Given the description of an element on the screen output the (x, y) to click on. 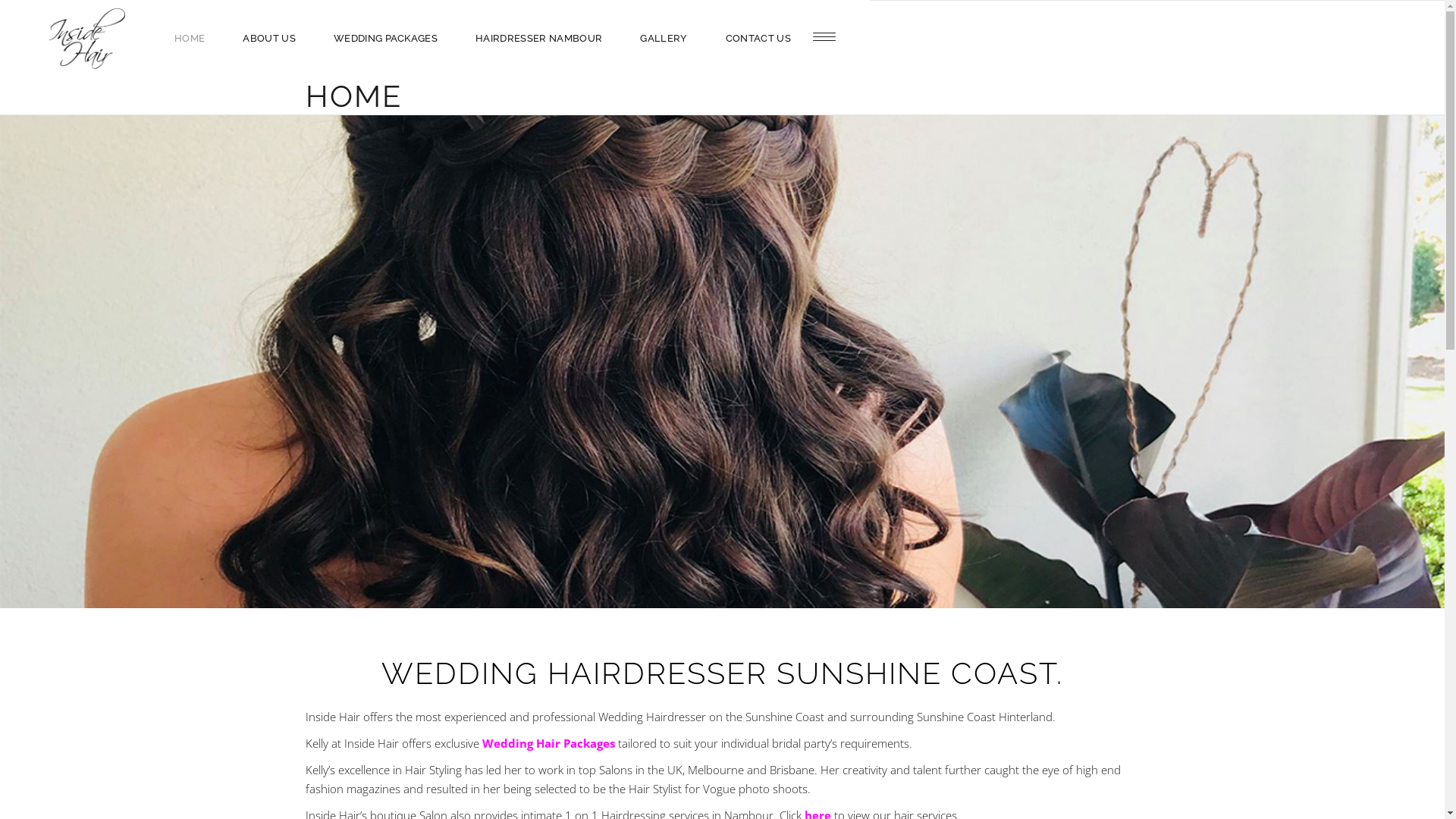
GALLERY Element type: text (663, 37)
Wedding Hair Packages Element type: text (548, 742)
ABOUT US Element type: text (268, 37)
CONTACT US Element type: text (757, 37)
HAIRDRESSER NAMBOUR Element type: text (538, 37)
HOME Element type: text (189, 37)
WEDDING PACKAGES Element type: text (385, 37)
